Given the description of an element on the screen output the (x, y) to click on. 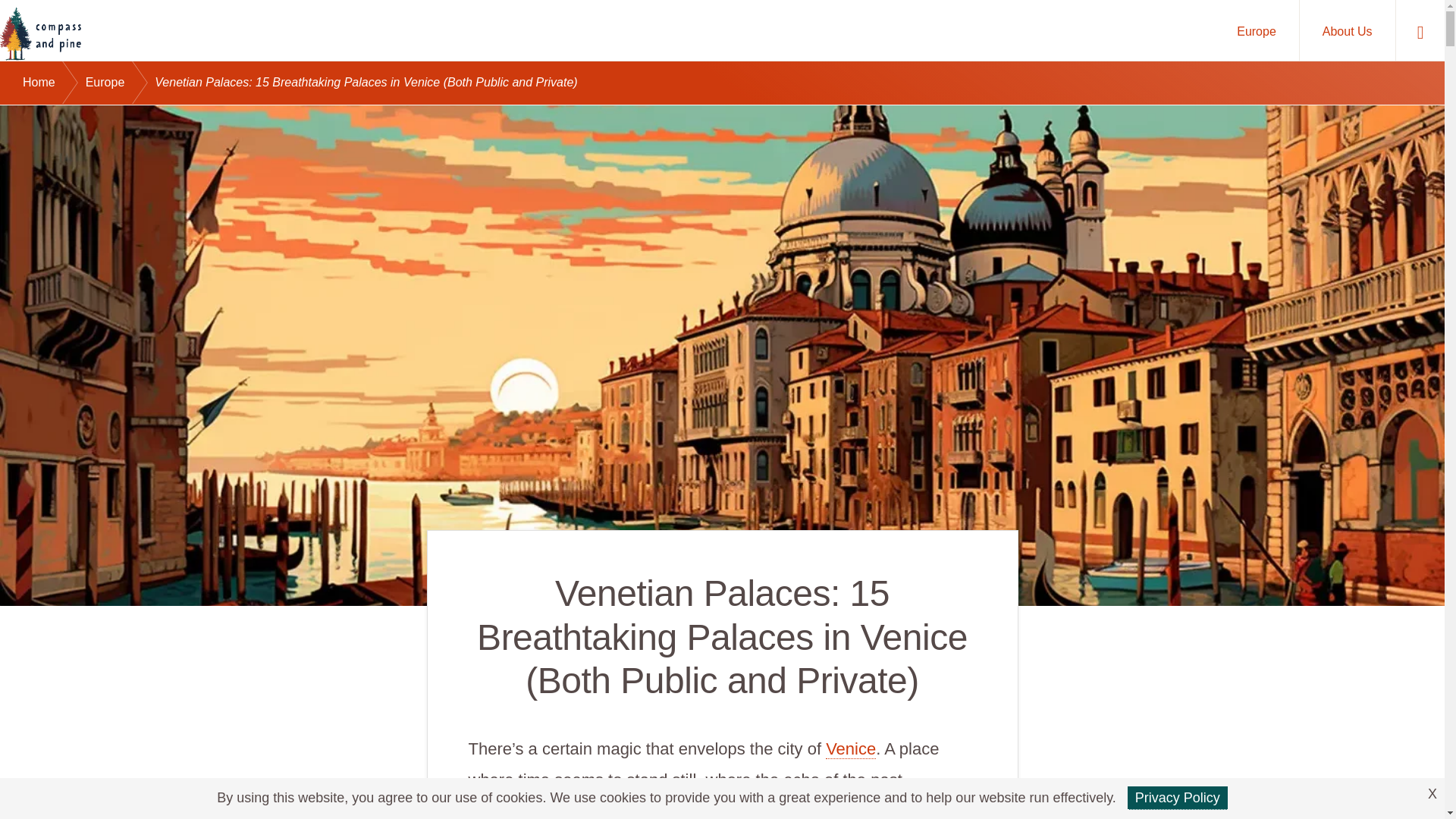
About Us (1347, 30)
Venice (850, 749)
Home (54, 82)
Show Search (1420, 30)
Europe (120, 82)
Europe (1256, 30)
